Given the description of an element on the screen output the (x, y) to click on. 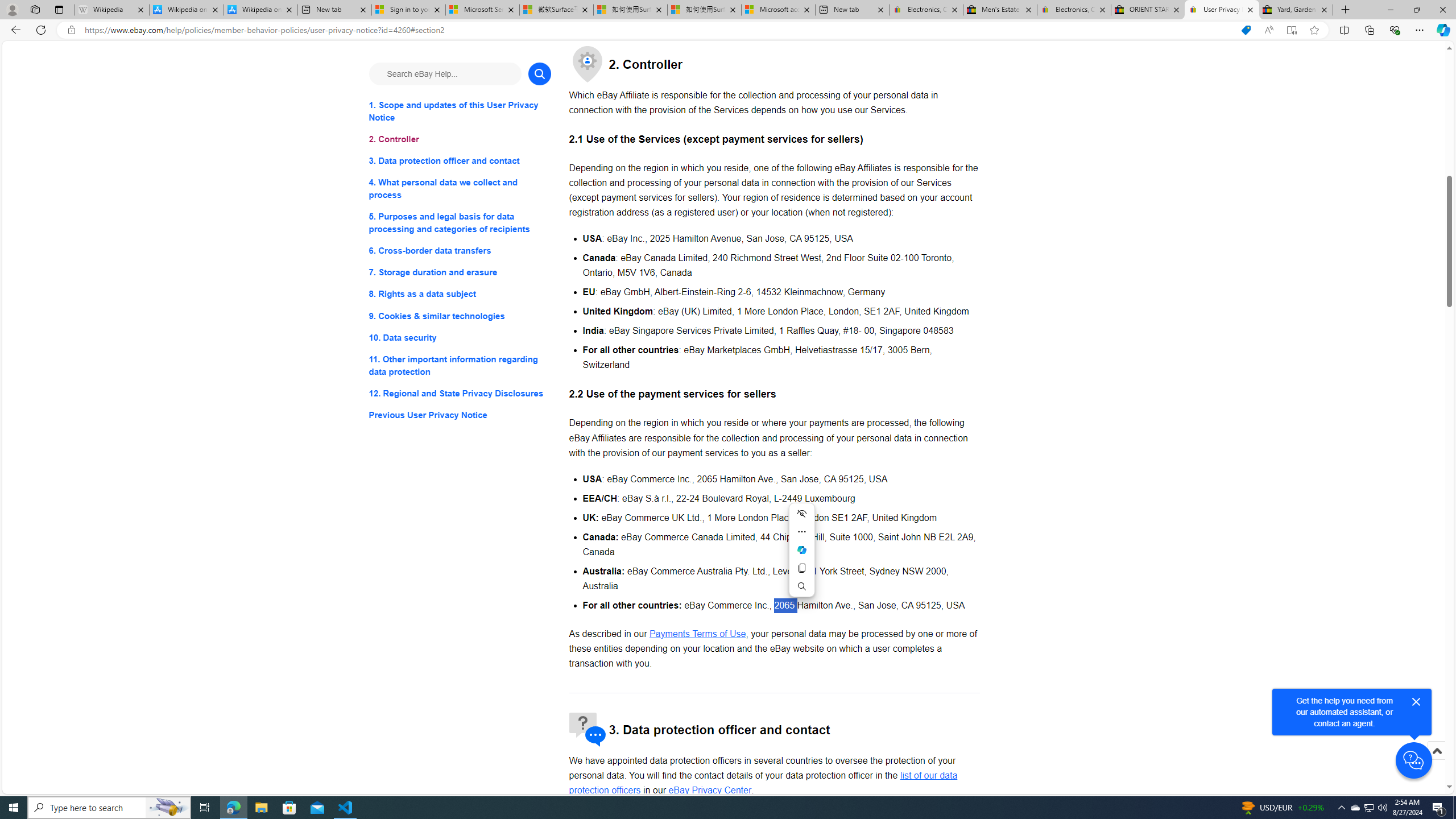
8. Rights as a data subject (459, 293)
9. Cookies & similar technologies (459, 315)
Previous User Privacy Notice (459, 414)
11. Other important information regarding data protection (459, 365)
10. Data security (459, 336)
Copy (801, 568)
